Given the description of an element on the screen output the (x, y) to click on. 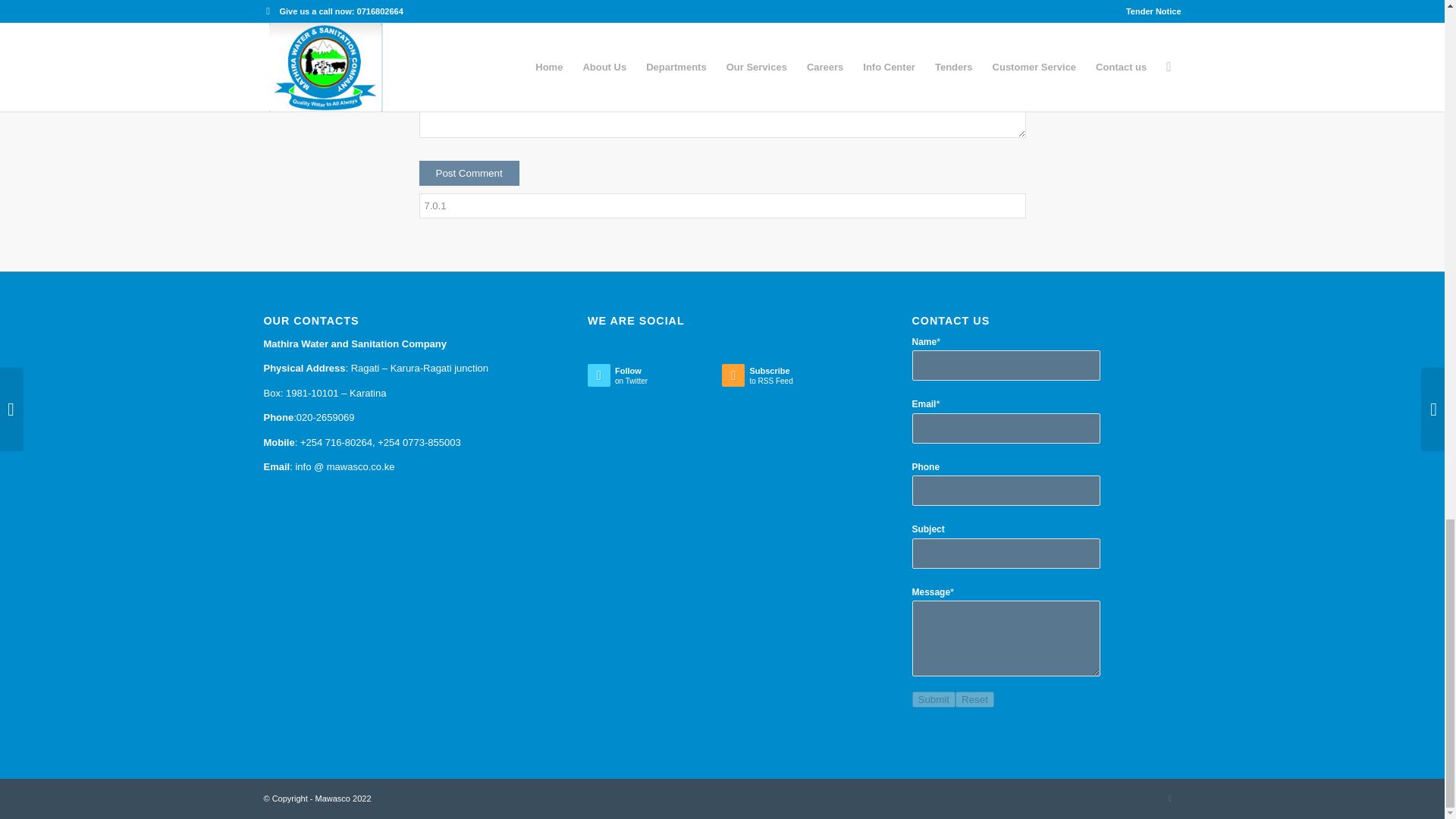
yes (426, 7)
Post Comment (468, 172)
Facebook (1169, 798)
7.0.1 (722, 205)
